Given the description of an element on the screen output the (x, y) to click on. 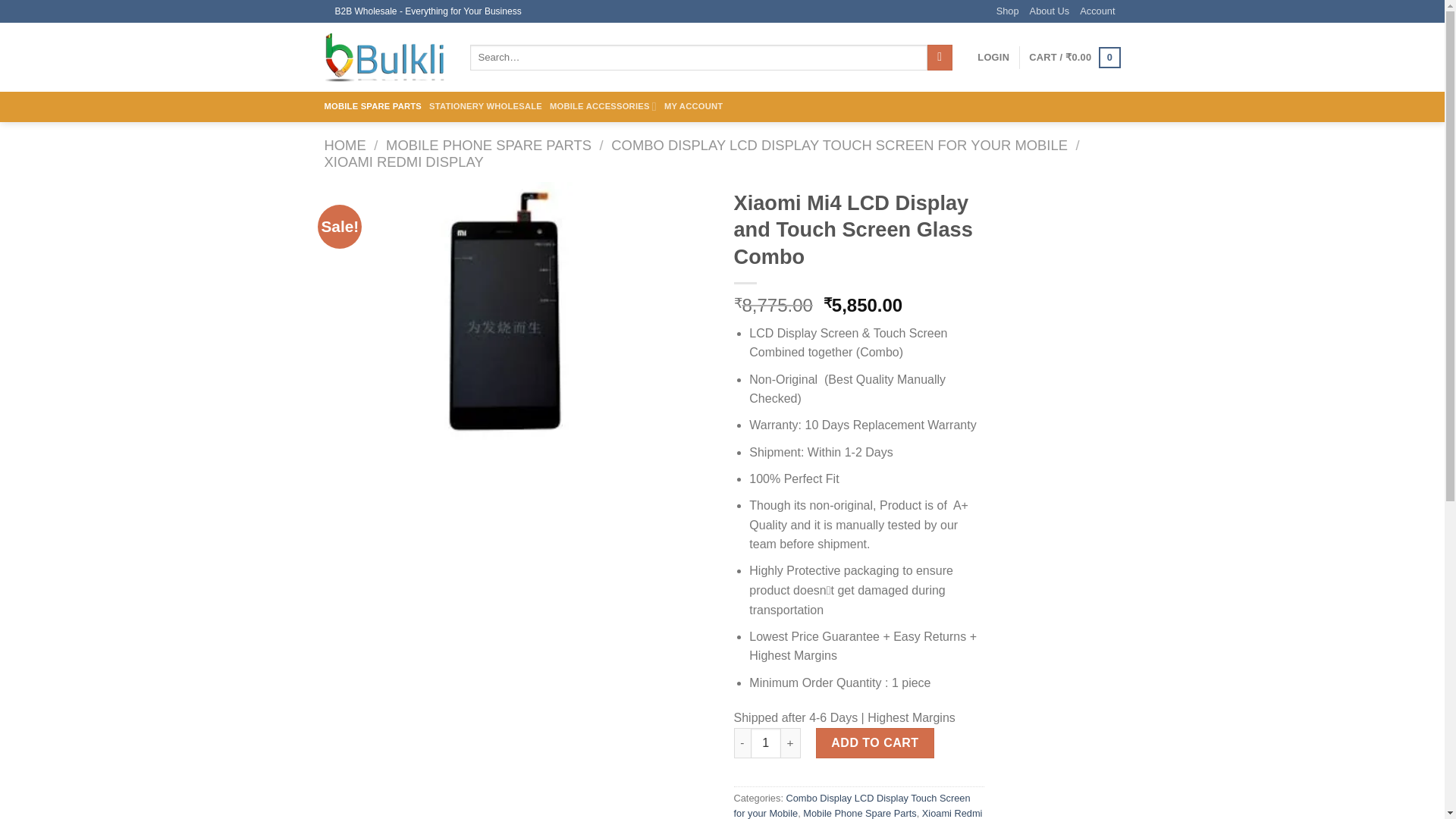
Xioami Redmi Display (857, 813)
HOME (345, 145)
Account (1097, 11)
Combo Display LCD Display Touch Screen for your Mobile (852, 805)
STATIONERY WHOLESALE (485, 106)
Search (939, 57)
About Us (1049, 11)
MOBILE SPARE PARTS (373, 106)
Shop (1007, 11)
1 (765, 743)
COMBO DISPLAY LCD DISPLAY TOUCH SCREEN FOR YOUR MOBILE (839, 145)
ADD TO CART (874, 743)
MOBILE PHONE SPARE PARTS (488, 145)
Mobile Phone Spare Parts (859, 813)
Cart (1074, 57)
